Given the description of an element on the screen output the (x, y) to click on. 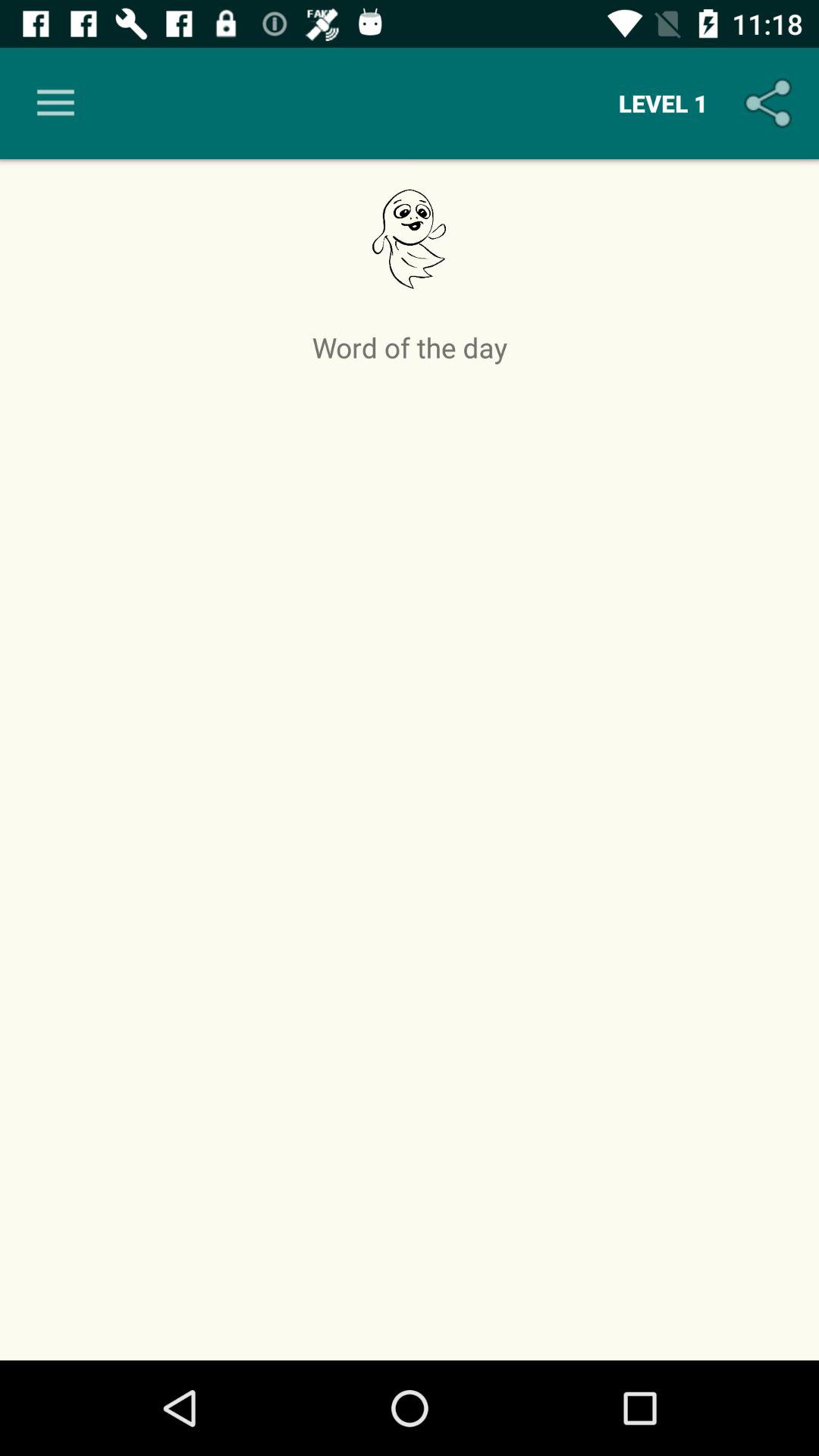
click the icon to the right of the level 1 item (771, 103)
